Given the description of an element on the screen output the (x, y) to click on. 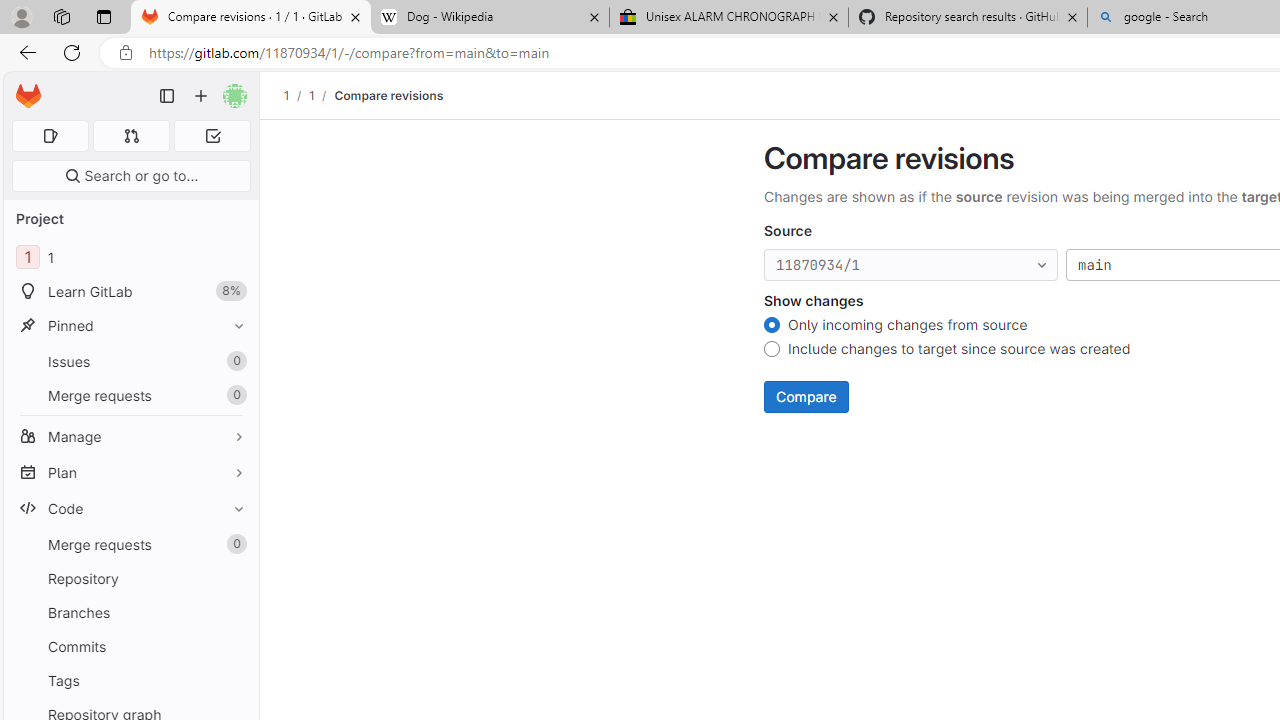
Compare revisions (389, 95)
Repository (130, 578)
Create new... (201, 96)
Pin Repository (234, 578)
1 1 (130, 257)
Tags (130, 679)
Include changes to target since source was created (771, 351)
